Given the description of an element on the screen output the (x, y) to click on. 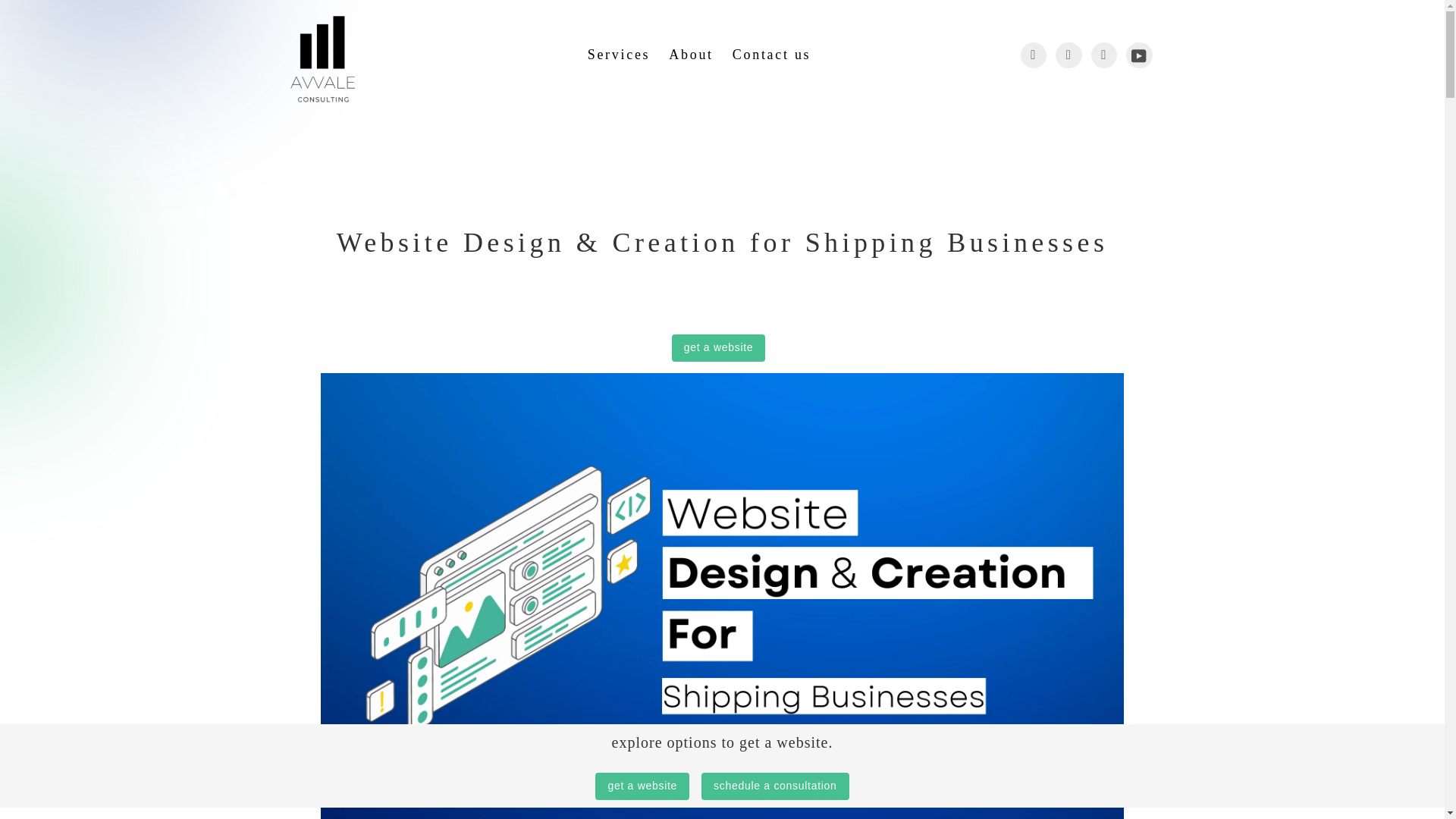
AVVALE on YouTube (1139, 55)
Services (623, 55)
AVVALE on LinkedIn (1103, 55)
AVVALE on Instagram (1068, 55)
AVVALE on Facebook (1033, 55)
